Given the description of an element on the screen output the (x, y) to click on. 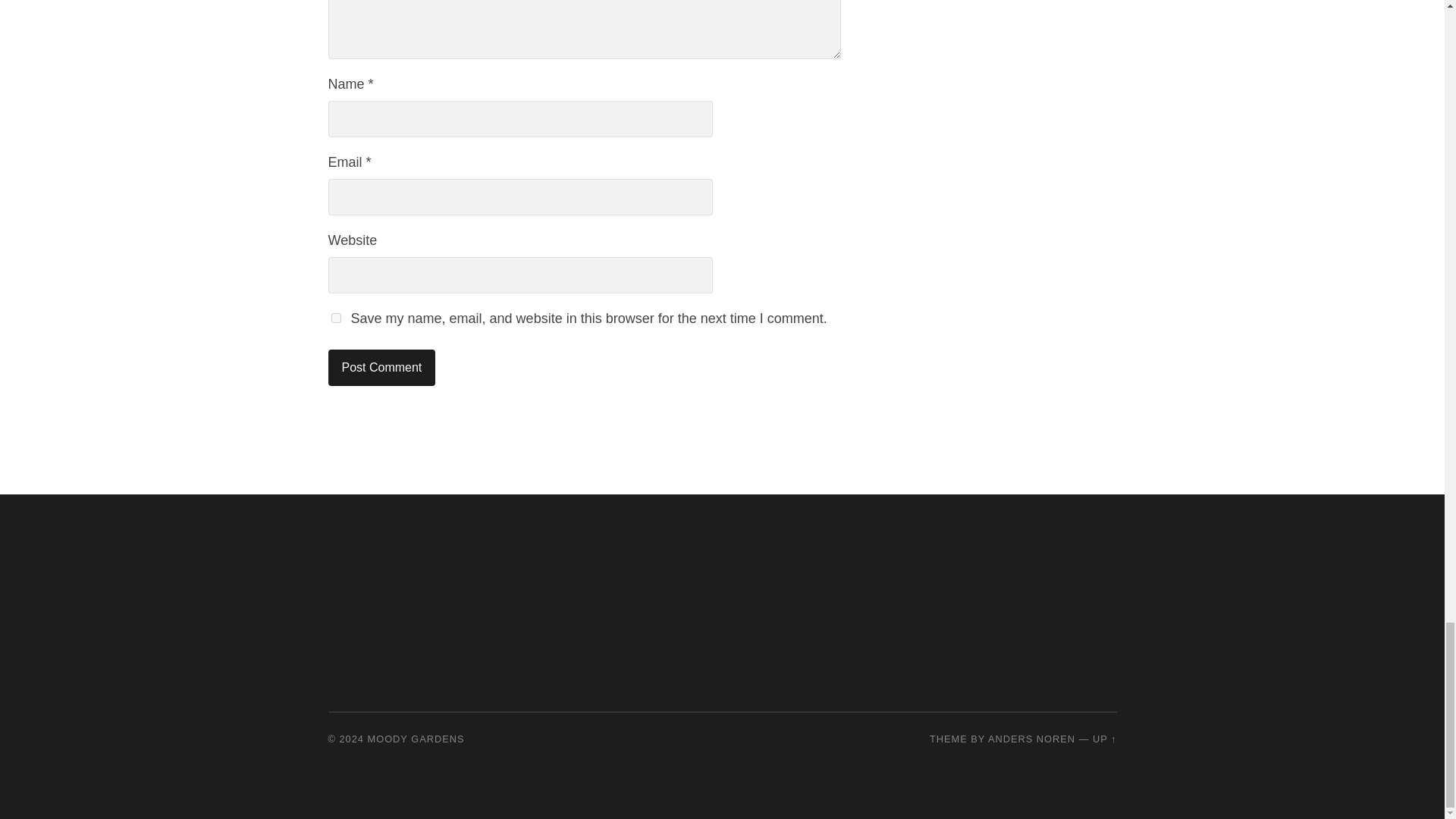
Post Comment (381, 367)
Post Comment (381, 367)
ANDERS NOREN (1031, 738)
To the top (1104, 738)
yes (335, 317)
MOODY GARDENS (416, 738)
